Given the description of an element on the screen output the (x, y) to click on. 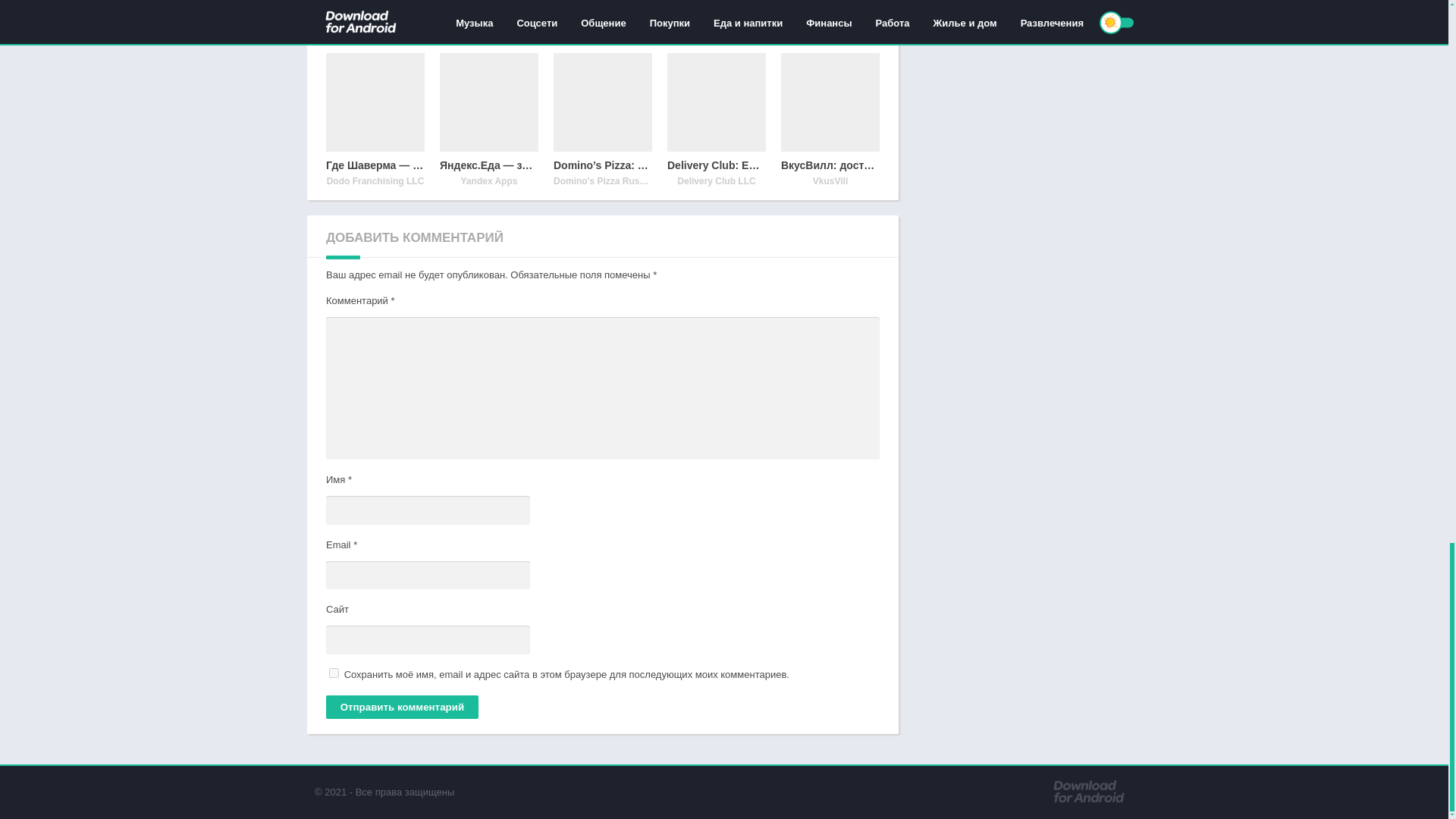
yes (334, 673)
